Given the description of an element on the screen output the (x, y) to click on. 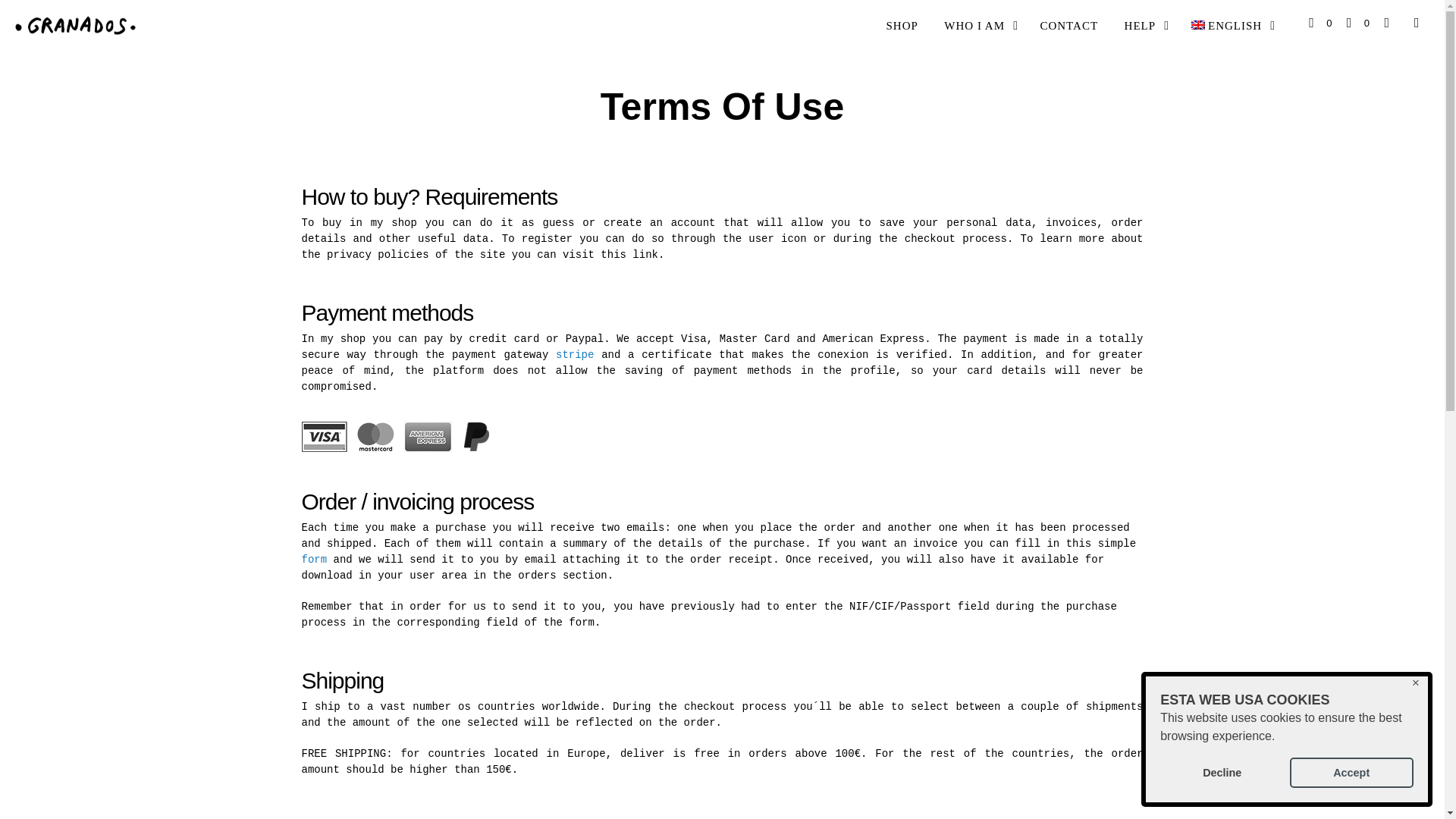
stripe (575, 354)
WHO I AM (974, 26)
Decline (1222, 772)
HELP (1140, 26)
0 (1358, 23)
form (314, 559)
English (1226, 26)
0 (1320, 23)
Accept (1351, 772)
SHOP (902, 26)
tarjetas (397, 436)
CONTACT (1068, 26)
ENGLISH (1226, 26)
